Given the description of an element on the screen output the (x, y) to click on. 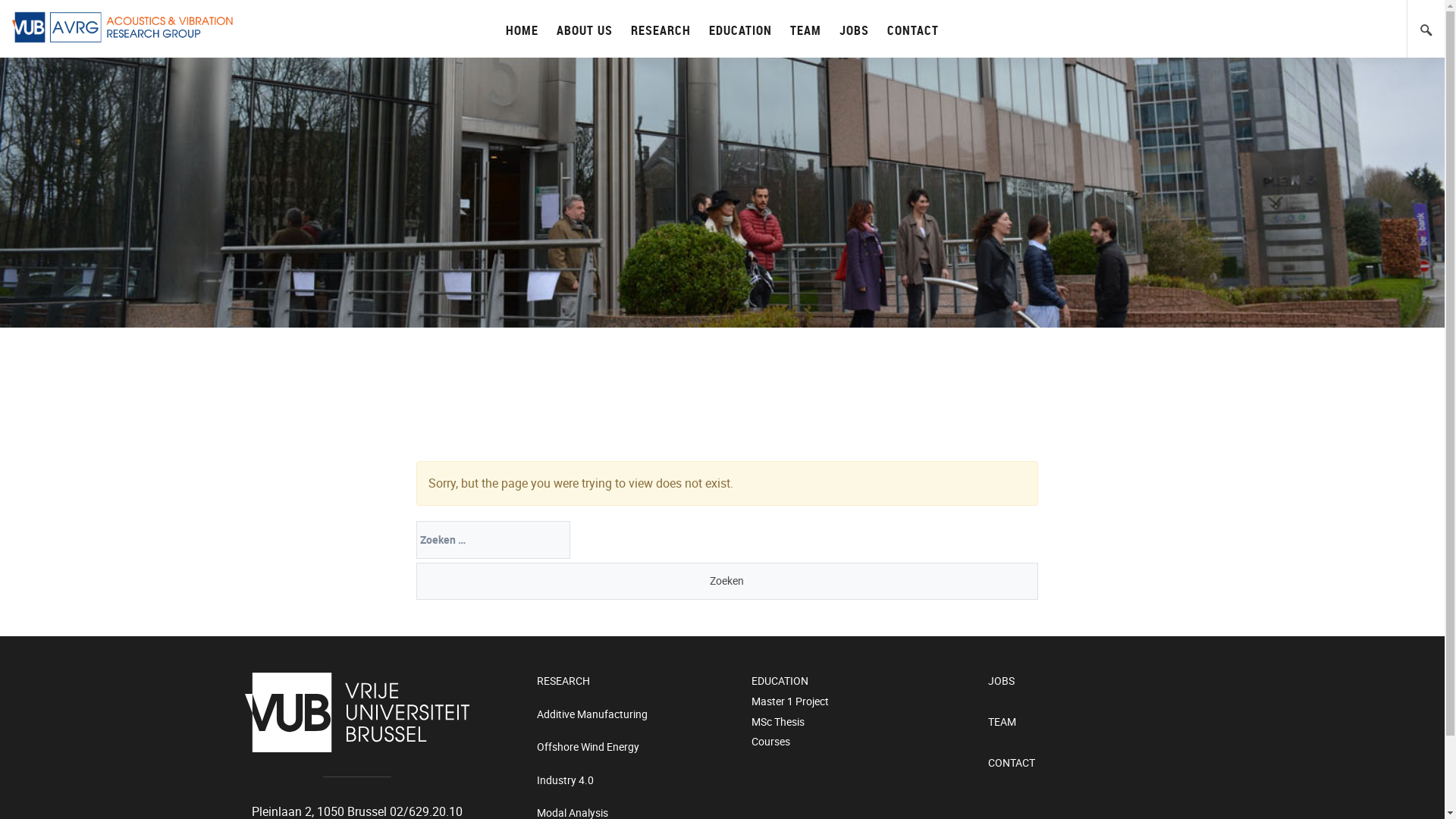
TEAM Element type: text (1099, 723)
Zoeken Element type: text (727, 581)
RESEARCH Element type: text (636, 682)
MSc Thesis Element type: text (862, 723)
EDUCATION Element type: text (862, 682)
Courses Element type: text (862, 743)
Industry 4.0 Element type: text (636, 781)
ABOUT US Element type: text (584, 28)
Offshore Wind Energy Element type: text (636, 748)
HOME Element type: text (521, 28)
JOBS Element type: text (1099, 682)
Additive Manufacturing Element type: text (636, 716)
CONTACT Element type: text (912, 28)
RESEARCH Element type: text (660, 28)
Master 1 Project Element type: text (862, 703)
CONTACT Element type: text (1099, 764)
TEAM Element type: text (805, 28)
JOBS Element type: text (854, 28)
EDUCATION Element type: text (740, 28)
